Given the description of an element on the screen output the (x, y) to click on. 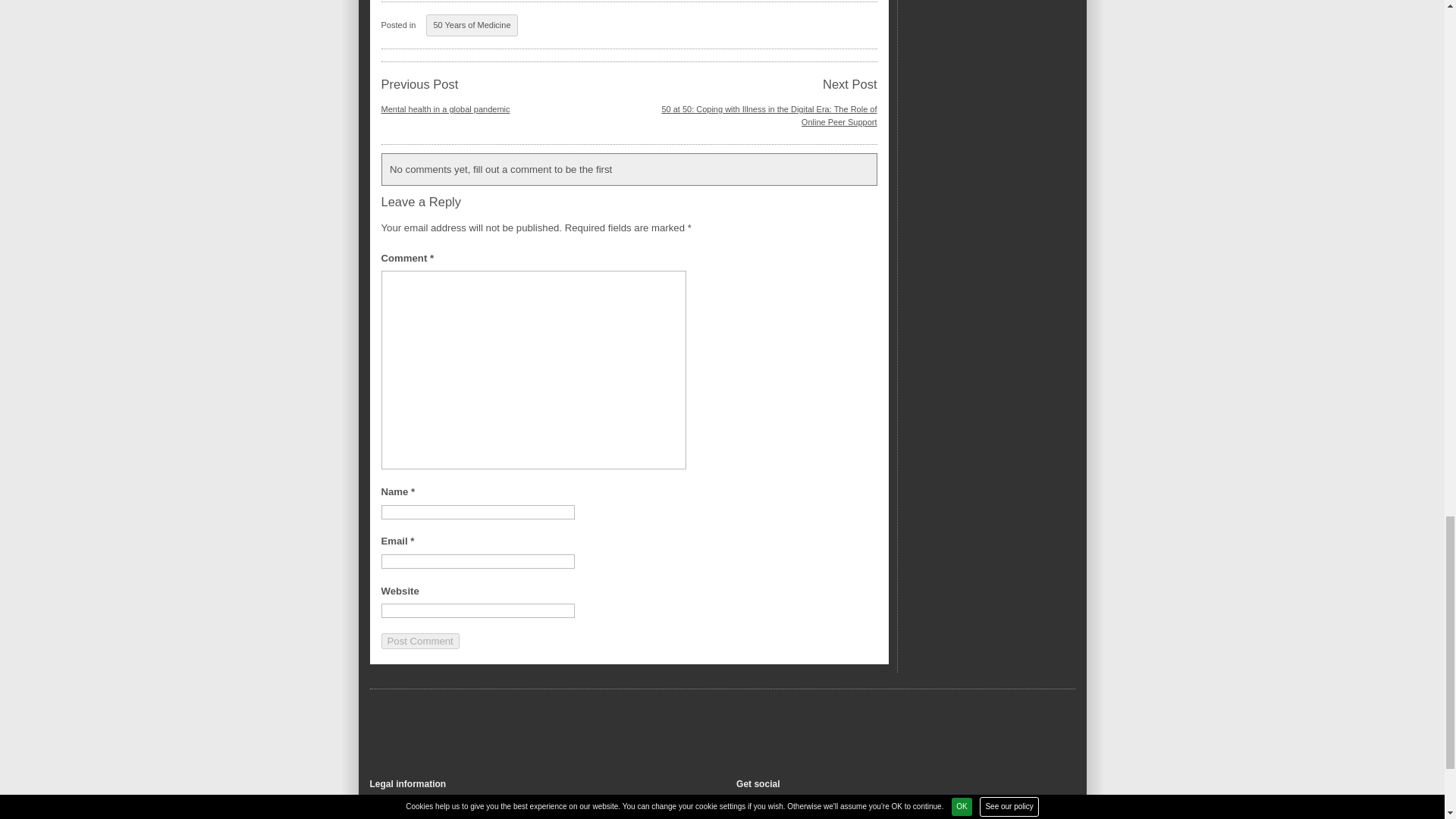
Get Social with The University of Nottingham (756, 802)
Copyright  (389, 801)
Post Comment (419, 641)
Terms and conditions (412, 811)
Privacy (383, 818)
50 Years of Medicine (471, 25)
Mental health in a global pandemic (444, 108)
Post Comment (419, 641)
